Given the description of an element on the screen output the (x, y) to click on. 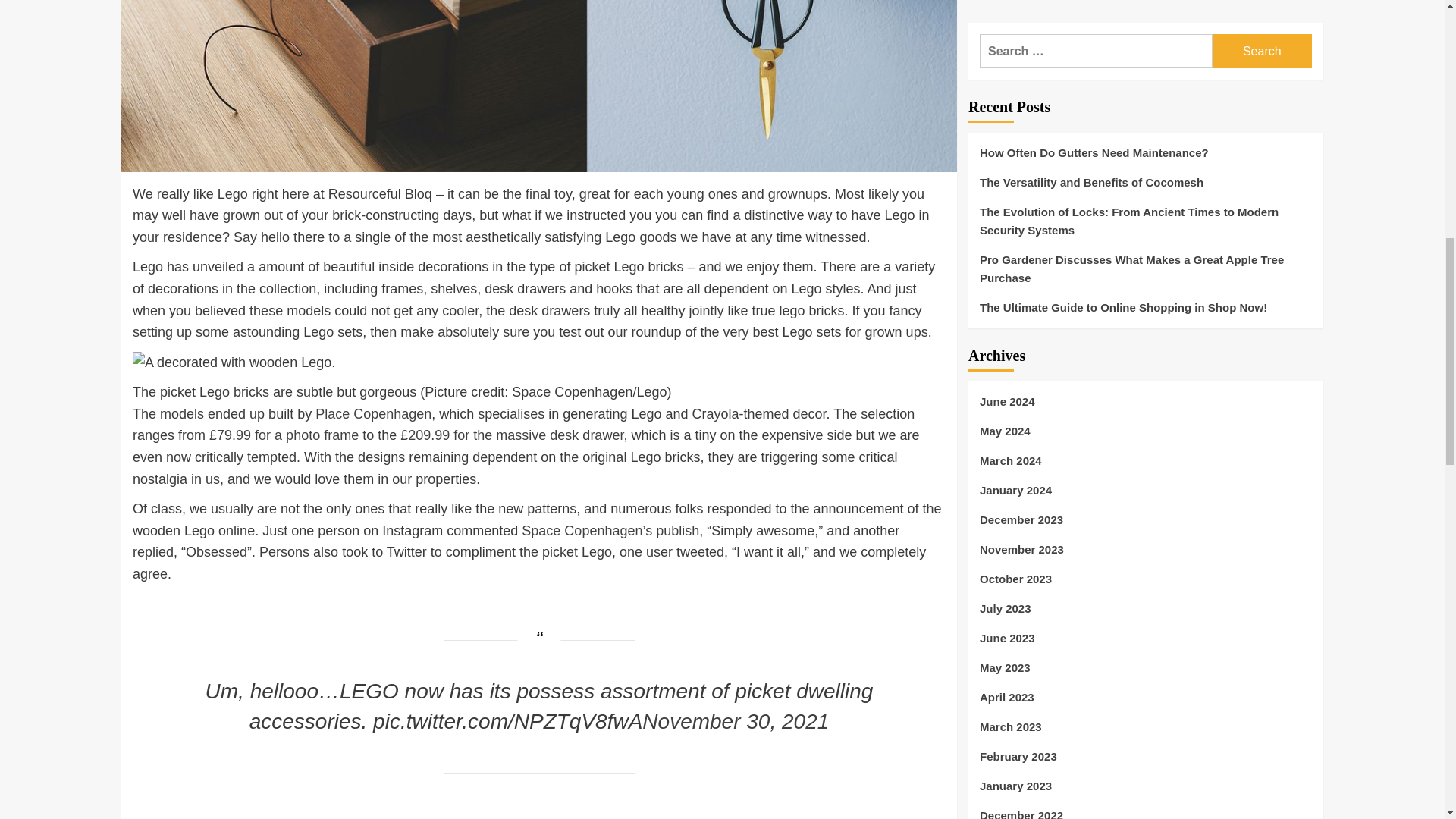
Place Copenhagen (372, 413)
November 30, 2021 (735, 721)
